Given the description of an element on the screen output the (x, y) to click on. 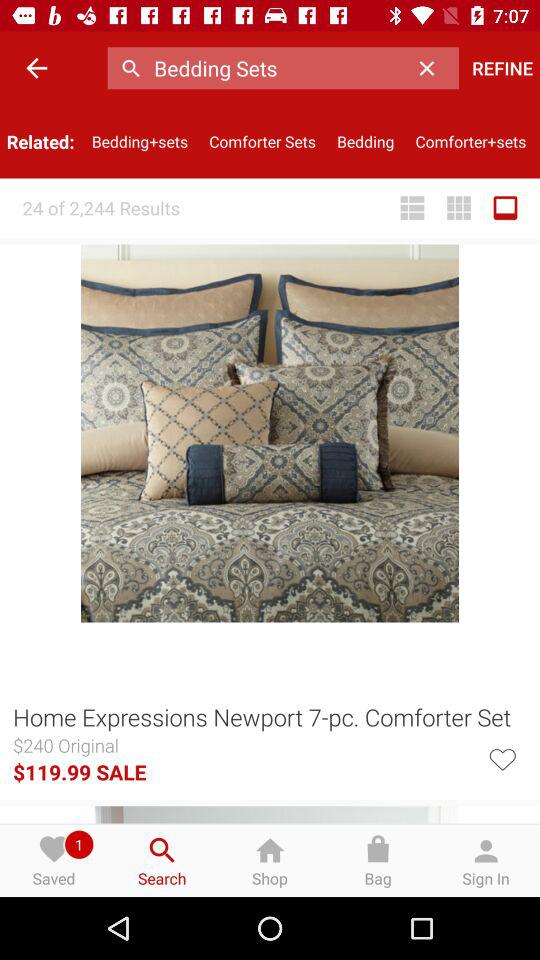
turn off the icon to the left of the bedding+sets icon (36, 68)
